Given the description of an element on the screen output the (x, y) to click on. 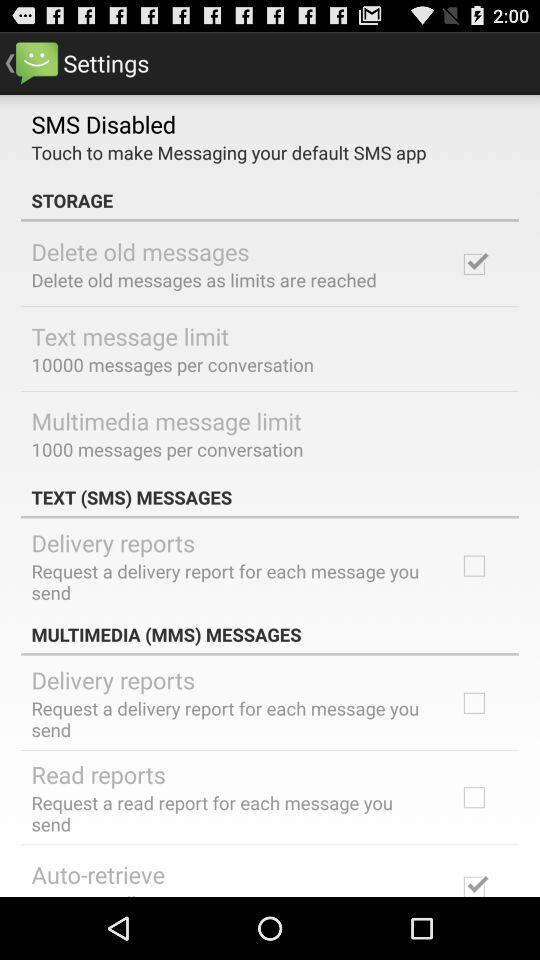
turn off touch to make item (228, 151)
